Given the description of an element on the screen output the (x, y) to click on. 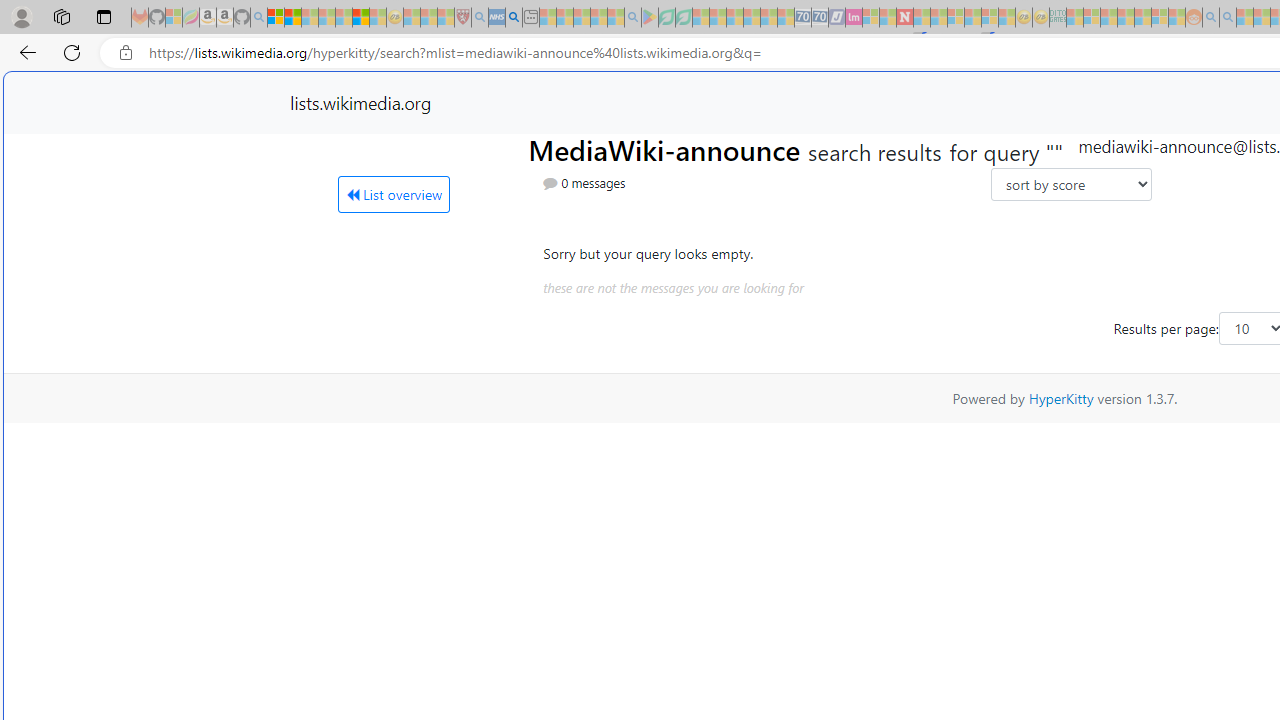
Bluey: Let's Play! - Apps on Google Play - Sleeping (649, 17)
AutomationID: sort-search (1070, 183)
